Given the description of an element on the screen output the (x, y) to click on. 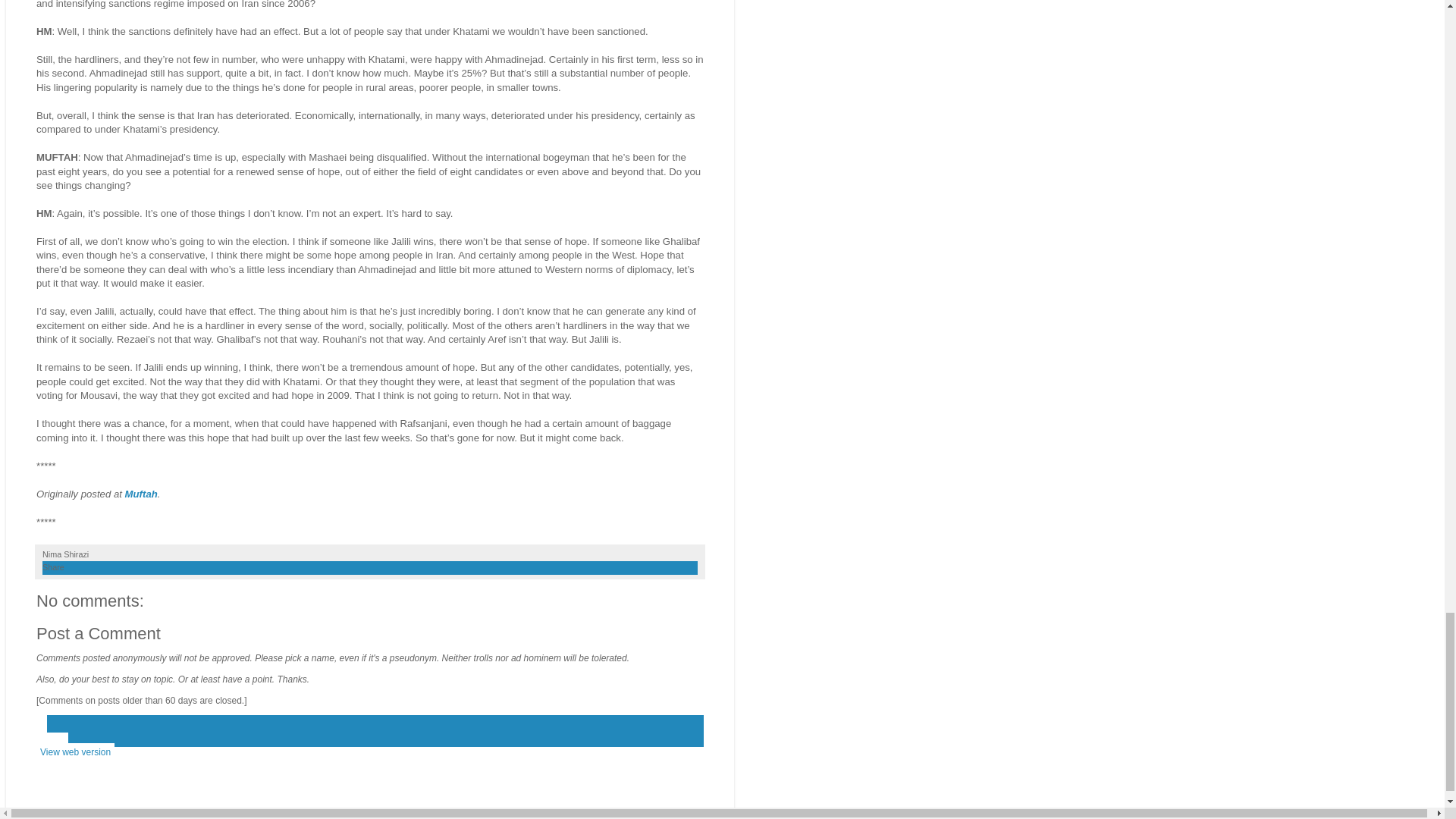
Share (53, 566)
Muftah (141, 493)
View web version (75, 751)
Blogger (393, 811)
Post a Comment (98, 633)
Home (52, 741)
